Given the description of an element on the screen output the (x, y) to click on. 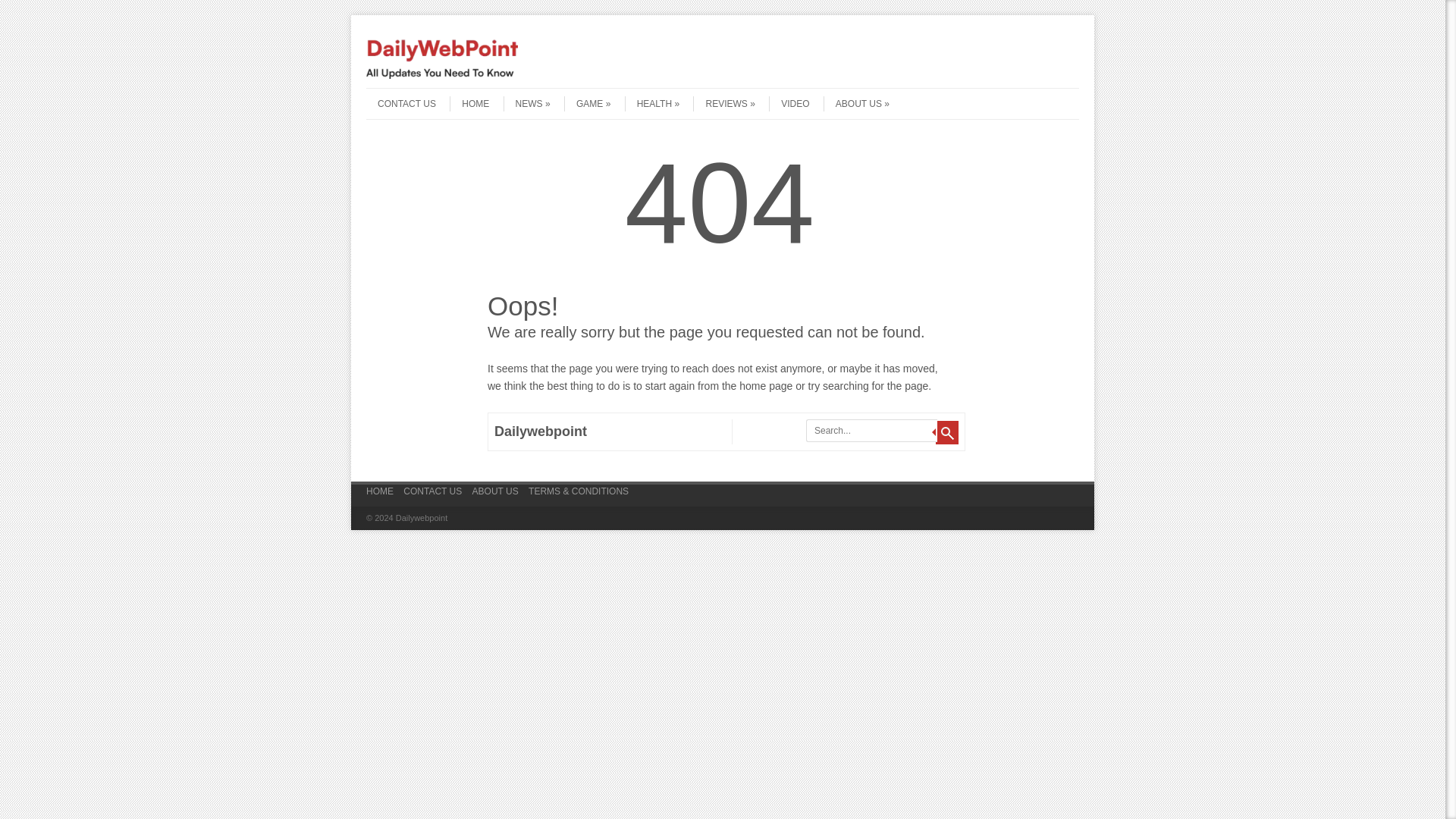
Skip to content (396, 92)
Dailywebpoint (540, 431)
VIDEO (788, 103)
HOME (379, 495)
HOME (469, 103)
Search (947, 432)
HEALTH (651, 103)
Dailywebpoint (442, 74)
GAME (587, 103)
Skip to content (396, 92)
ABOUT US (856, 103)
Dailywebpoint (540, 431)
CONTACT US (400, 103)
REVIEWS (723, 103)
ABOUT US (494, 495)
